Given the description of an element on the screen output the (x, y) to click on. 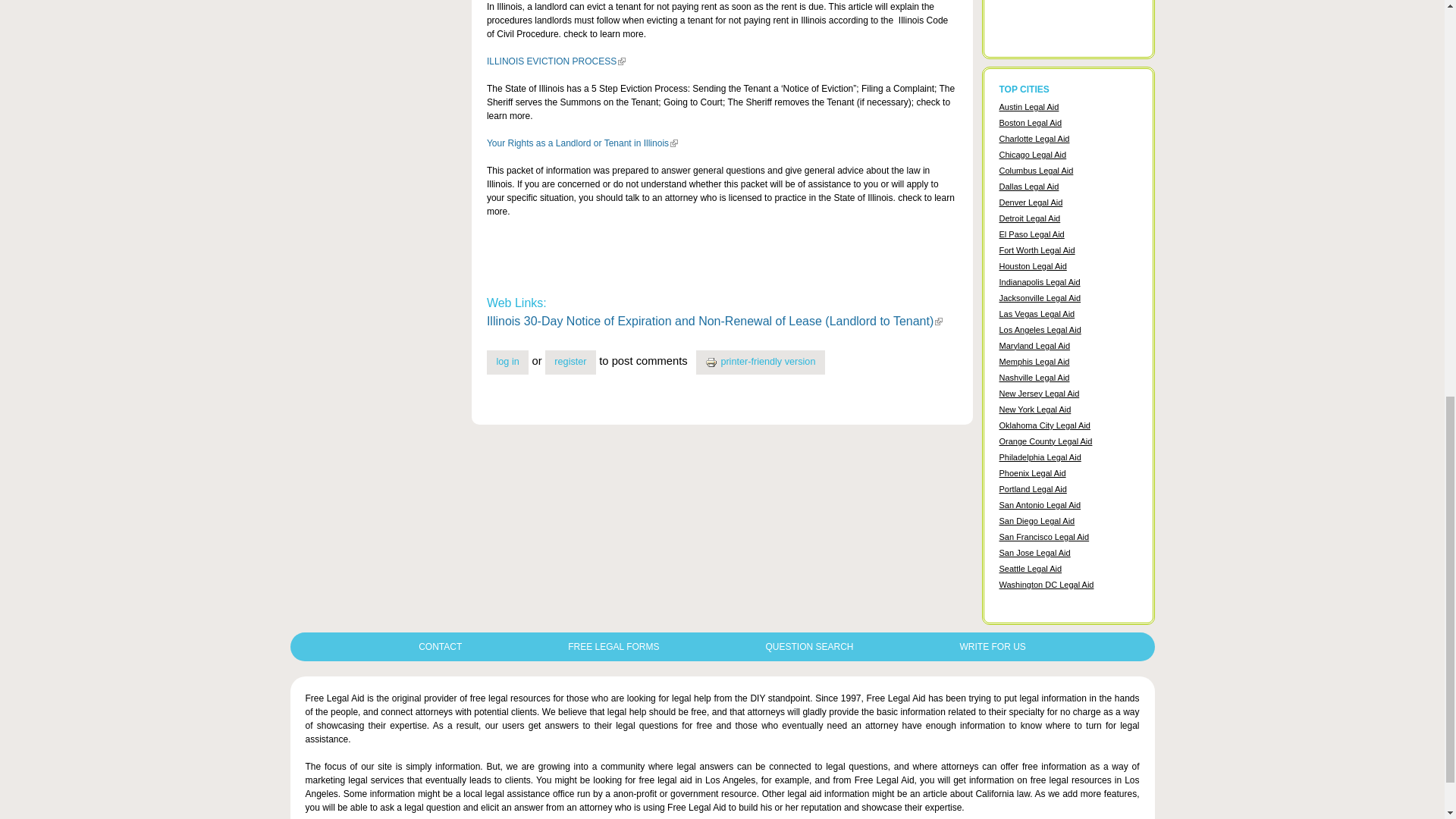
Dallas Legal Aid (1028, 185)
printer-friendly version (760, 362)
Advertisement (1067, 25)
Detroit Legal Aid (1029, 217)
Austin Free Legal Aid (1028, 106)
Denver Legal Aid (1030, 202)
Chicago Legal Aid (1032, 153)
log in (507, 362)
Boston Free Legal Aid (1030, 122)
Austin Legal Aid (1028, 106)
Printer-friendly version (712, 362)
Columbus Legal Aid (1036, 170)
register (569, 362)
Charlotte Legal Aid (1034, 138)
Charlotte Free Legal Aid (1034, 138)
